Given the description of an element on the screen output the (x, y) to click on. 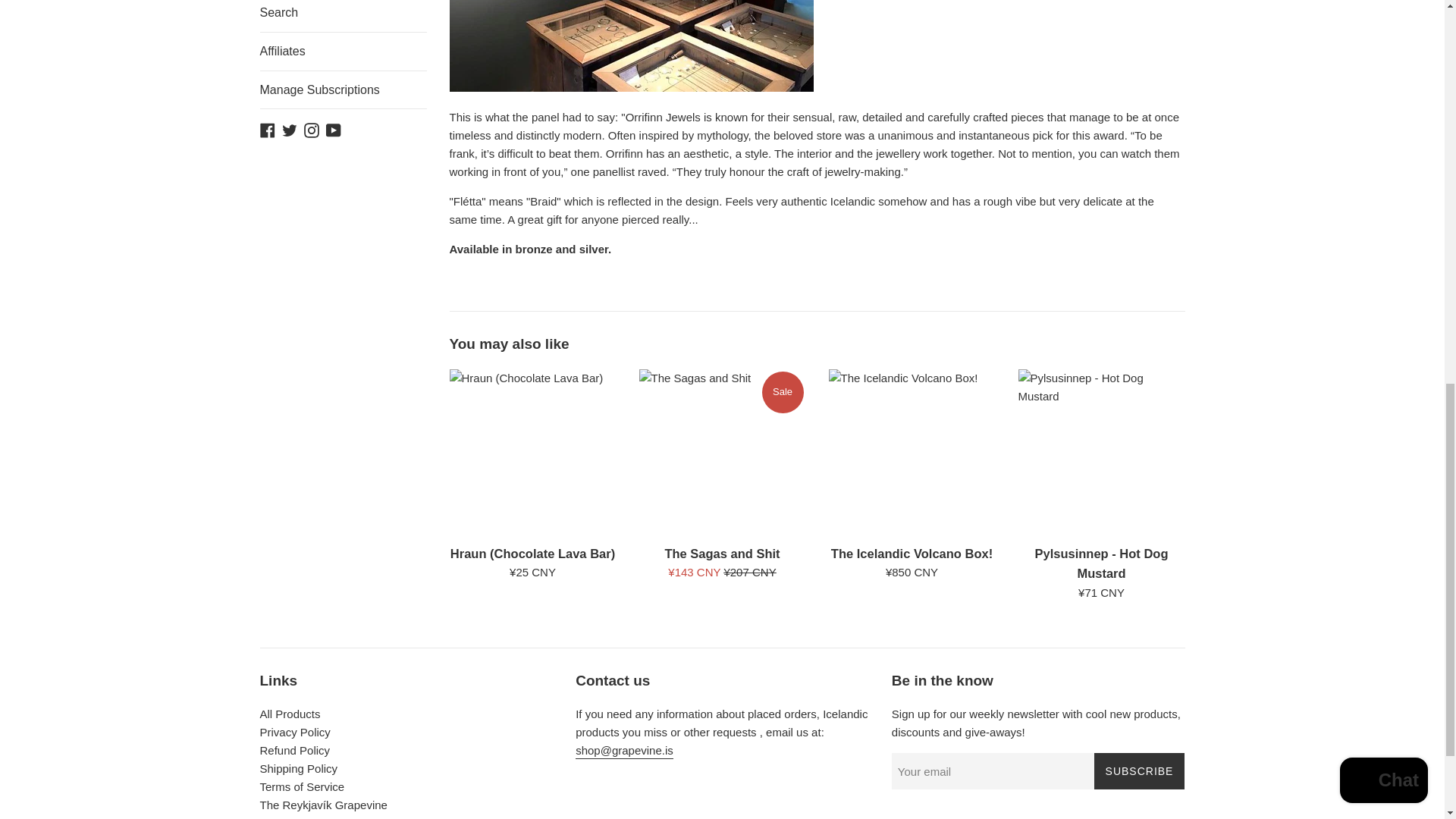
Pylsusinnep - Hot Dog Mustard (1101, 452)
The Icelandic Volcano Box! (911, 452)
The Sagas and Shit (722, 452)
Grapevine Store on Facebook (267, 128)
Grapevine Store on Instagram (311, 128)
Grapevine Store on Twitter (289, 128)
Grapevine Store on YouTube (333, 128)
